Given the description of an element on the screen output the (x, y) to click on. 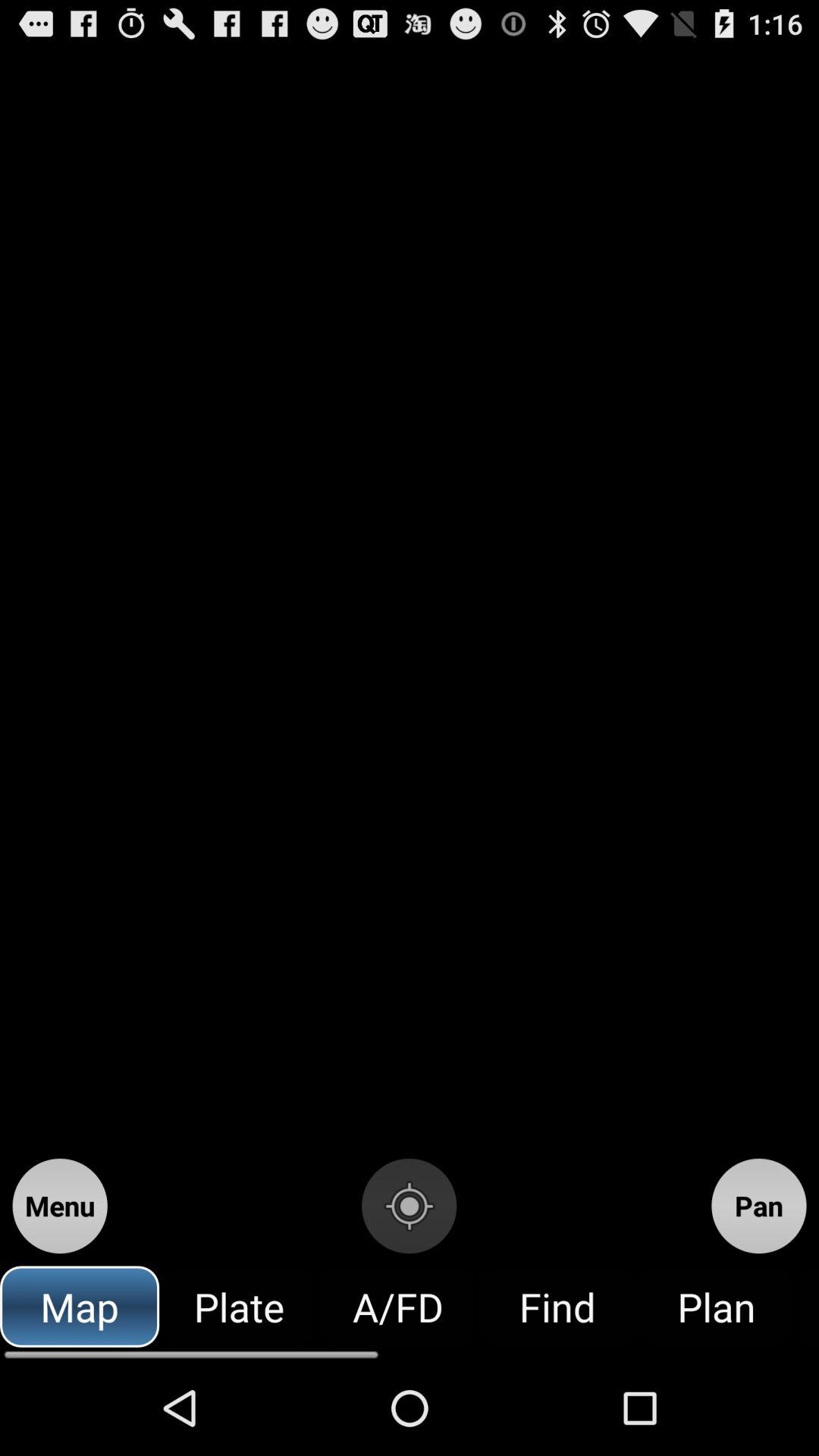
start recording (408, 1205)
